Given the description of an element on the screen output the (x, y) to click on. 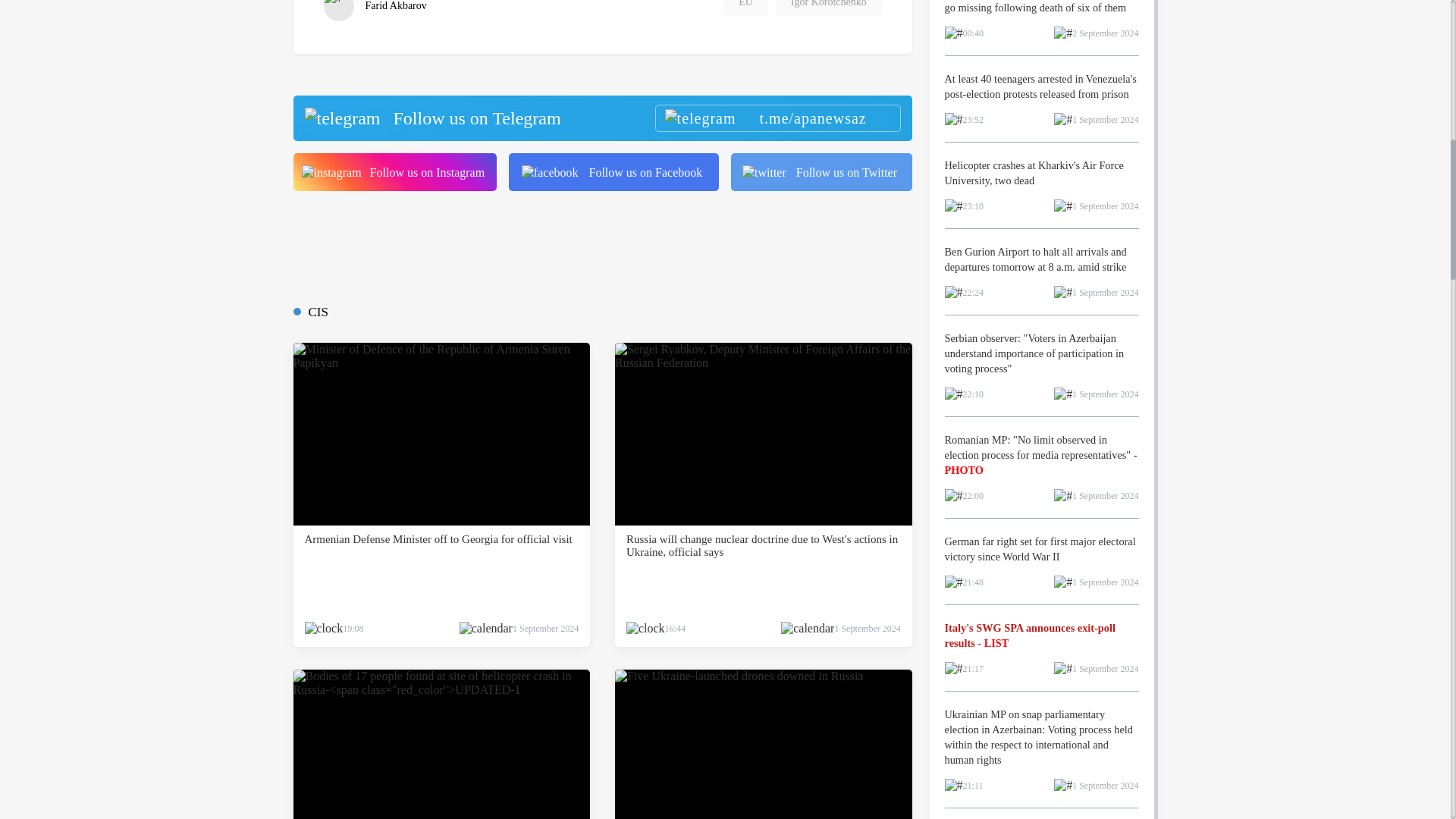
Follow us on Facebook (613, 171)
Follow us on Twitter (821, 171)
Follow us on Instagram (394, 171)
Follow us on Telegram (601, 117)
